Given the description of an element on the screen output the (x, y) to click on. 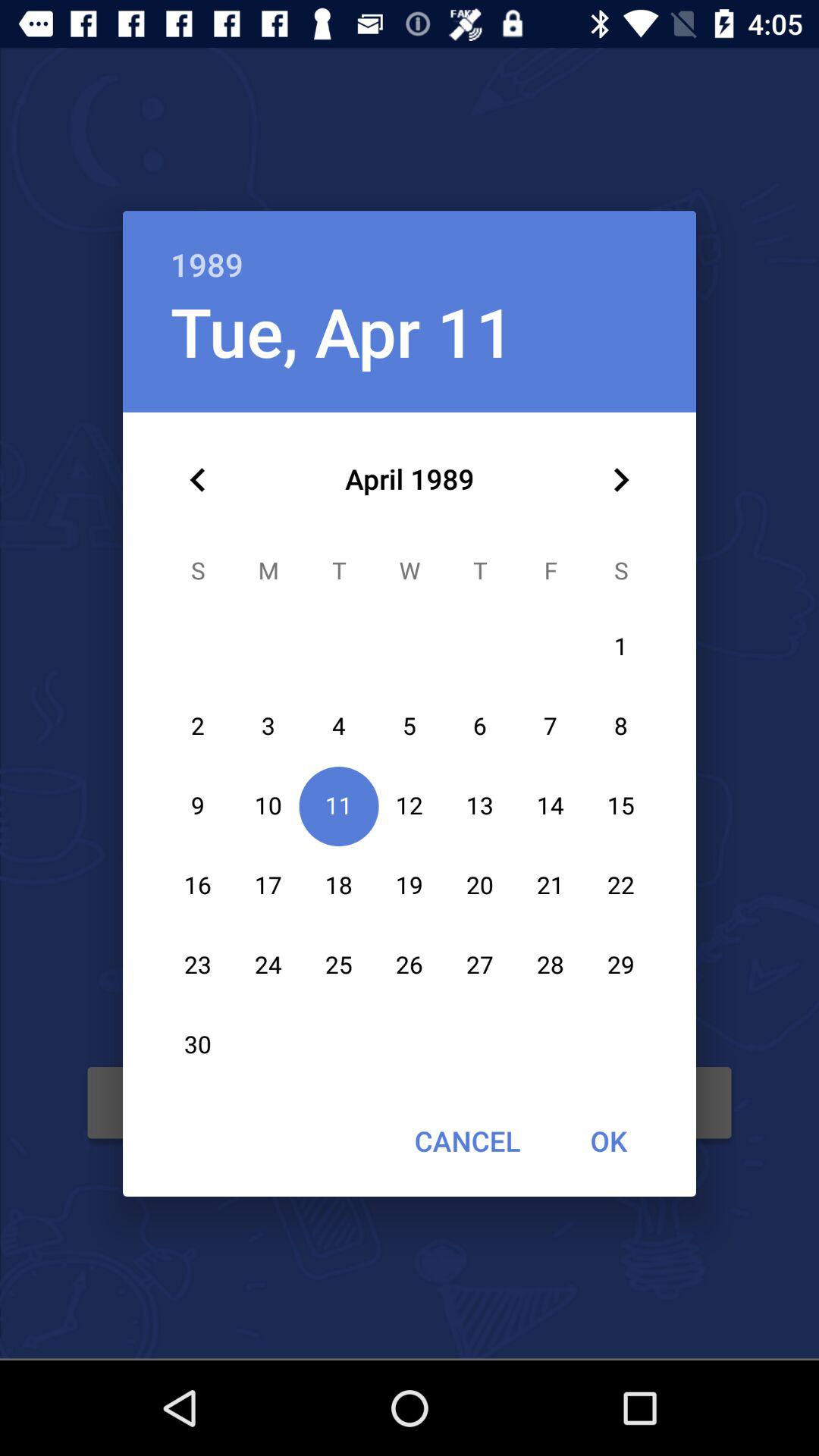
flip to the cancel (467, 1140)
